Given the description of an element on the screen output the (x, y) to click on. 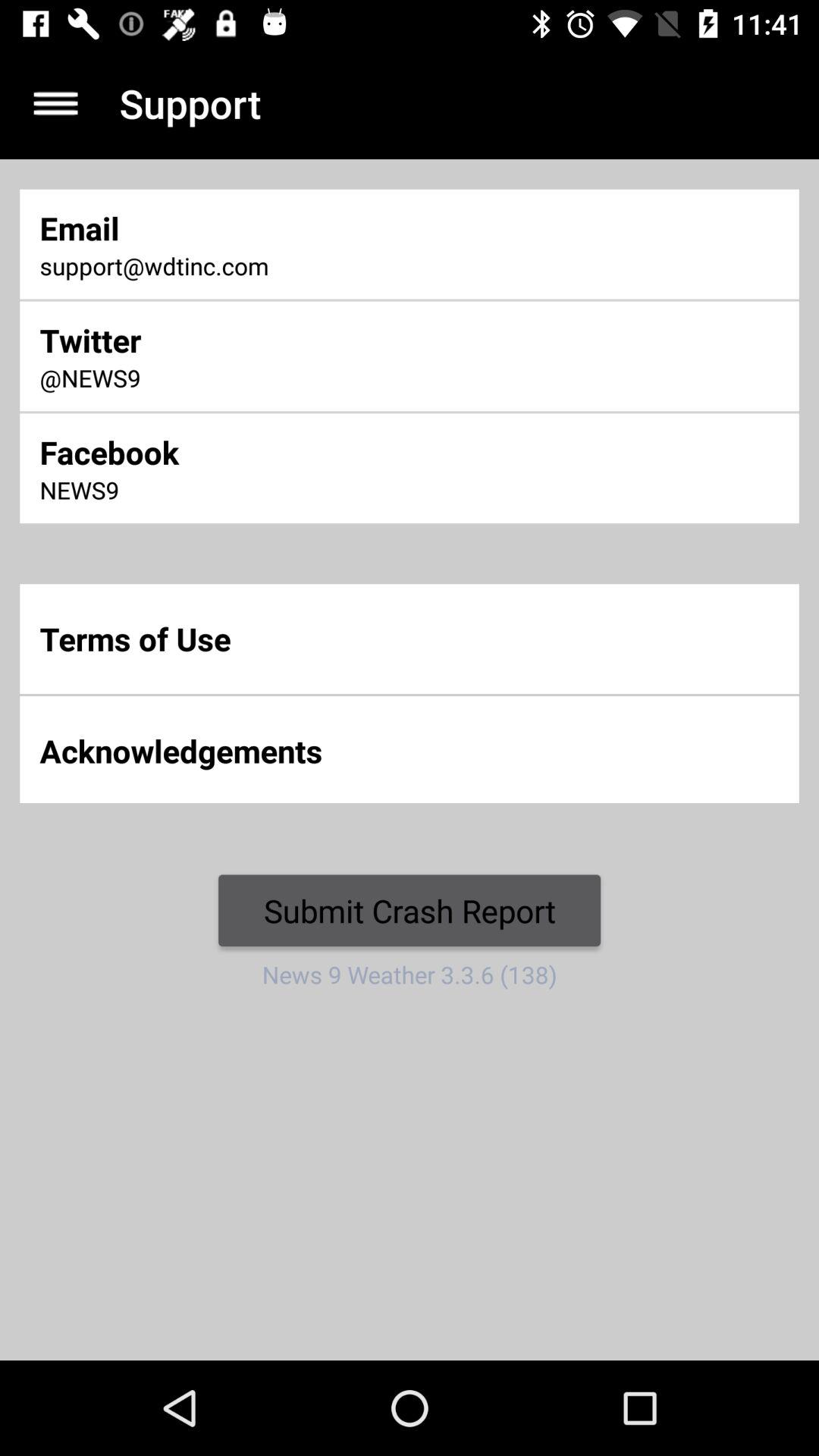
launch app next to support icon (55, 103)
